Given the description of an element on the screen output the (x, y) to click on. 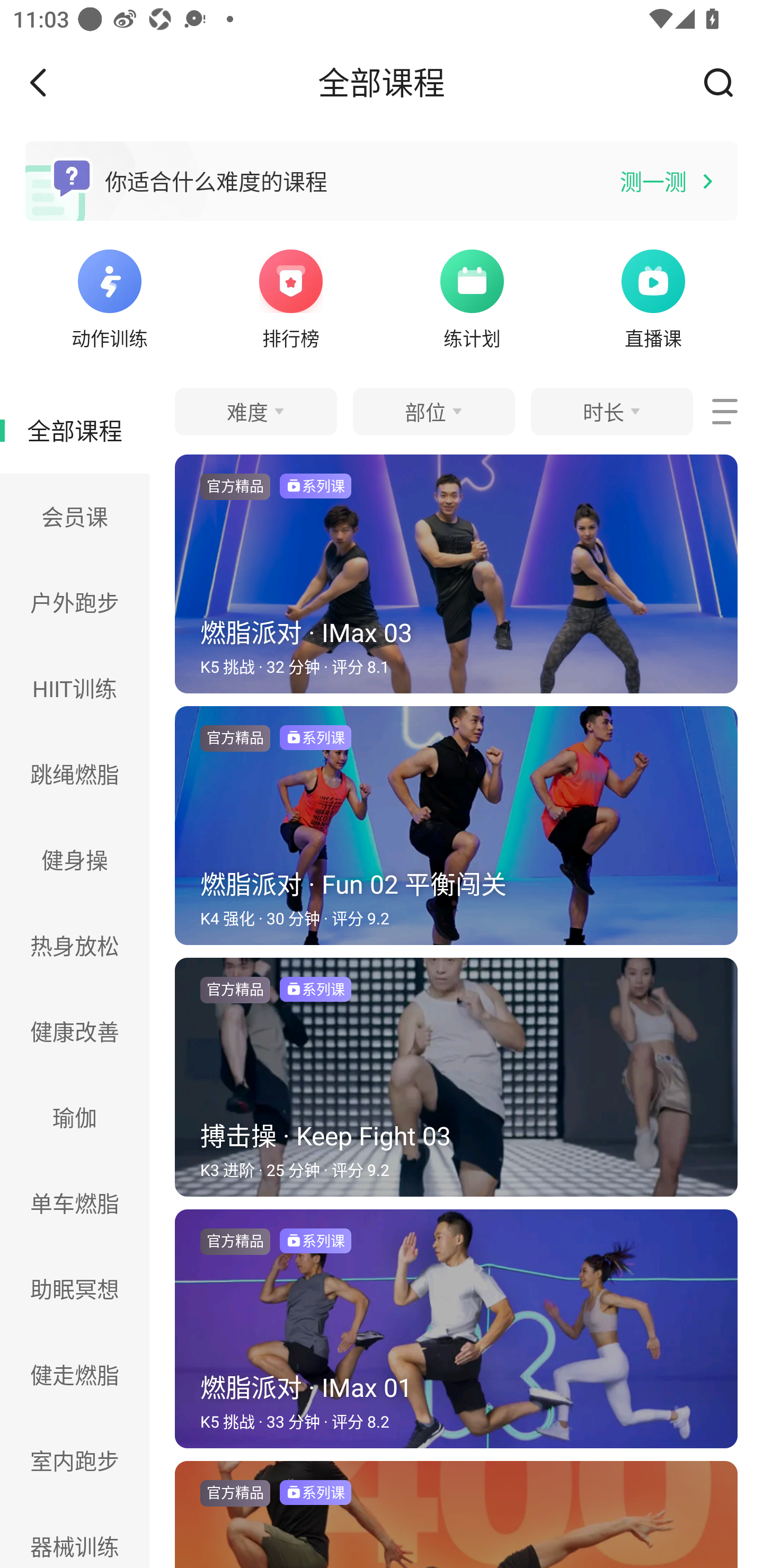
Left Button In Title Bar (50, 82)
Right Button In Title Bar (724, 82)
你适合什么难度的课程 测一测 (381, 181)
动作训练 (109, 297)
排行榜 (290, 297)
练计划 (471, 297)
直播课 (653, 297)
全部课程 (74, 430)
难度 (255, 411)
部位 (433, 411)
时长 (611, 411)
官方精品 系列课 燃脂派对 · IMax 03 K5 挑战 · 32 分钟 · 评分 8.1 (456, 579)
会员课 (74, 516)
户外跑步 (74, 601)
HIIT训练 (74, 687)
官方精品 系列课 燃脂派对 · Fun 02 平衡闯关 K4 强化 · 30 分钟 · 评分 9.2 (456, 831)
跳绳燃脂 (74, 773)
健身操 (74, 859)
热身放松 (74, 945)
健康改善 (74, 1030)
瑜伽 (74, 1117)
单车燃脂 (74, 1203)
官方精品 系列课 燃脂派对 · IMax 01 K5 挑战 · 33 分钟 · 评分 8.2 (456, 1334)
助眠冥想 (74, 1288)
健走燃脂 (74, 1374)
室内跑步 (74, 1460)
器械训练 (74, 1535)
